Given the description of an element on the screen output the (x, y) to click on. 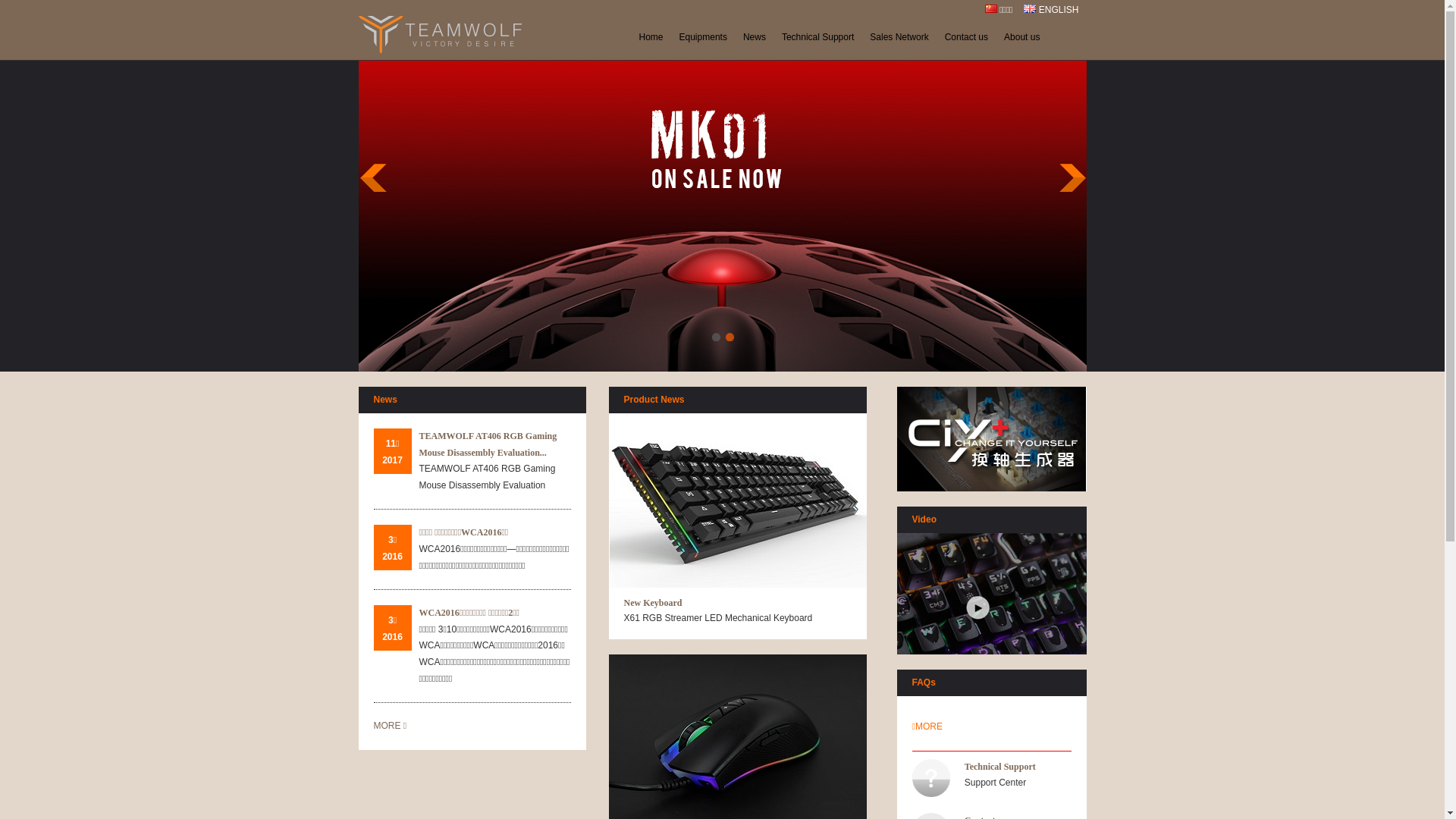
New Keyboard Element type: text (652, 602)
Technical Support Element type: text (999, 766)
News Element type: text (754, 37)
Sales Network Element type: text (898, 37)
About us Element type: text (1021, 37)
Home Element type: text (650, 37)
TEAMWOLF AT406 RGB Gaming Mouse Disassembly Evaluation... Element type: text (487, 444)
tmall Element type: hover (990, 438)
Contact us Element type: text (966, 37)
Teamwolf LukerMK01 Element type: hover (721, 368)
Technical Support Element type: text (817, 37)
Equipments Element type: text (702, 37)
